Given the description of an element on the screen output the (x, y) to click on. 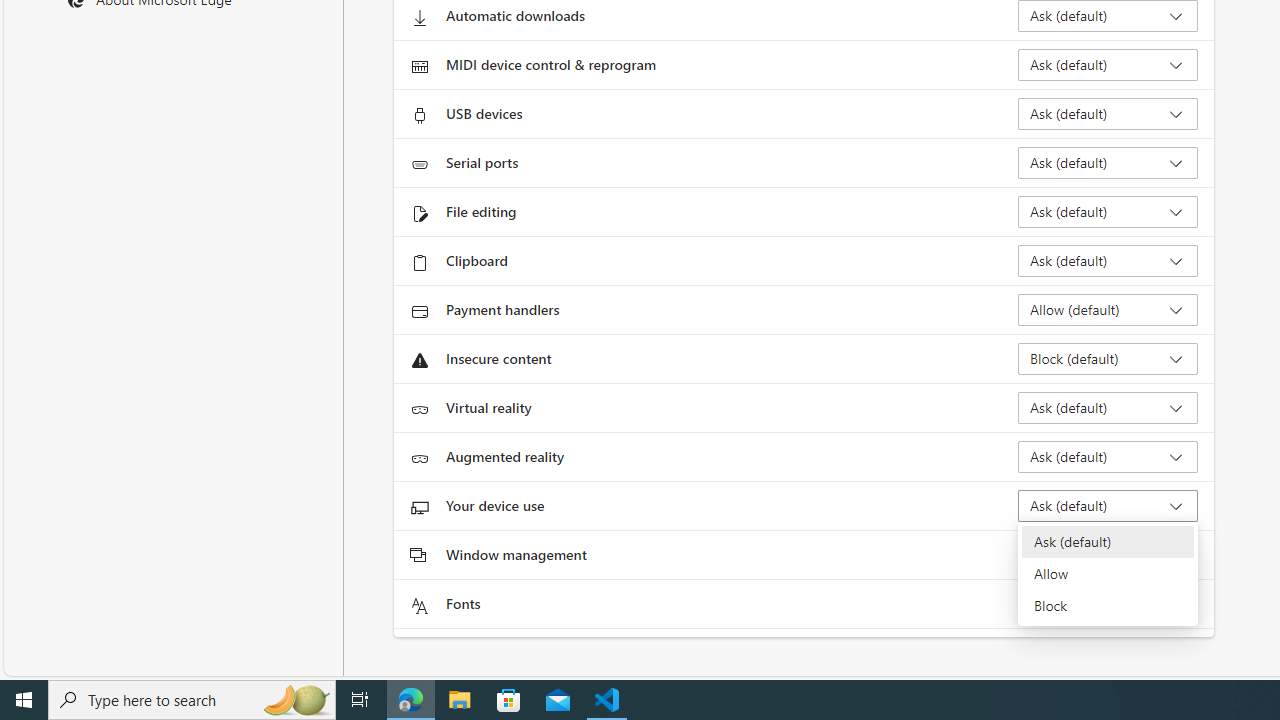
Ask (default) (1107, 542)
Automatic downloads Ask (default) (1107, 15)
Fonts Ask (default) (1107, 603)
USB devices Ask (default) (1107, 113)
Payment handlers Allow (default) (1107, 309)
MIDI device control & reprogram Ask (default) (1107, 64)
Clipboard Ask (default) (1107, 260)
Block (1107, 605)
Window management Ask (default) (1107, 554)
Augmented reality Ask (default) (1107, 456)
Allow (1107, 573)
File editing Ask (default) (1107, 211)
Your device use Ask (default) (1107, 506)
Serial ports Ask (default) (1107, 162)
Virtual reality Ask (default) (1107, 407)
